Given the description of an element on the screen output the (x, y) to click on. 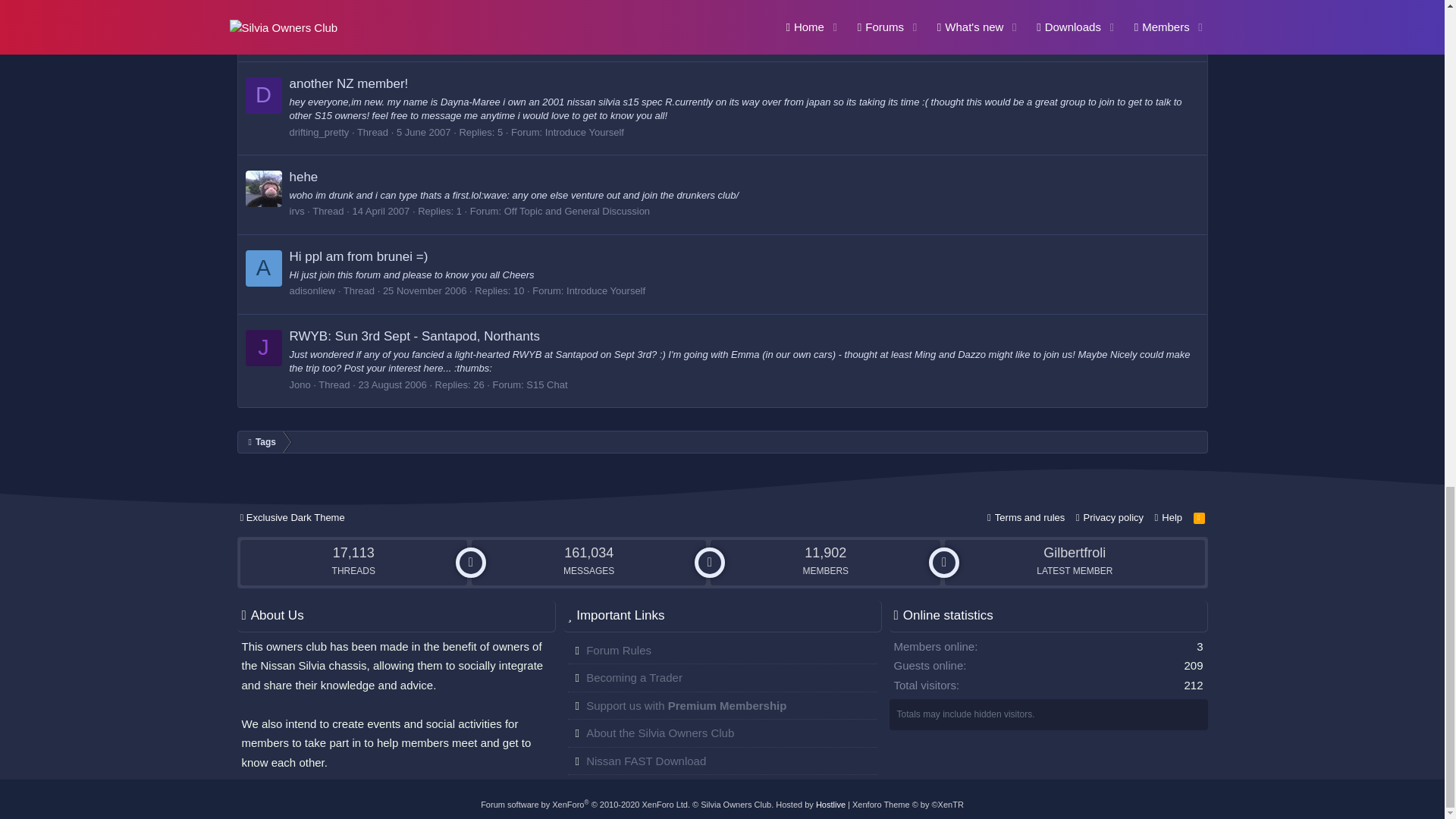
1 October 2007 at 11:08 AM (415, 38)
5 June 2007 at 4:30 AM (423, 131)
25 November 2006 at 4:25 AM (424, 290)
14 April 2007 at 2:10 AM (380, 211)
